Given the description of an element on the screen output the (x, y) to click on. 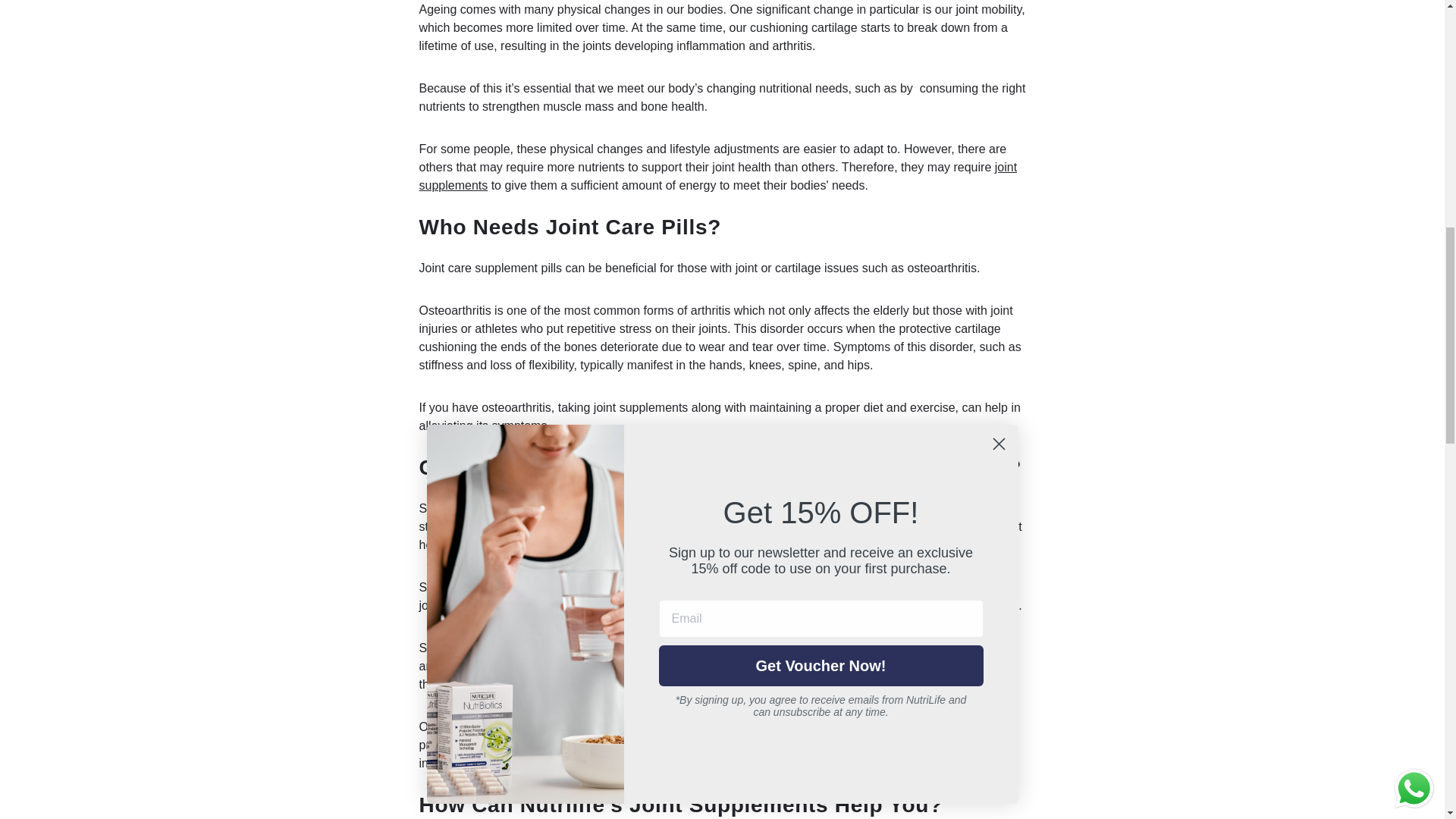
glucosamine and chondroitin (864, 508)
joint supplements (717, 175)
